Given the description of an element on the screen output the (x, y) to click on. 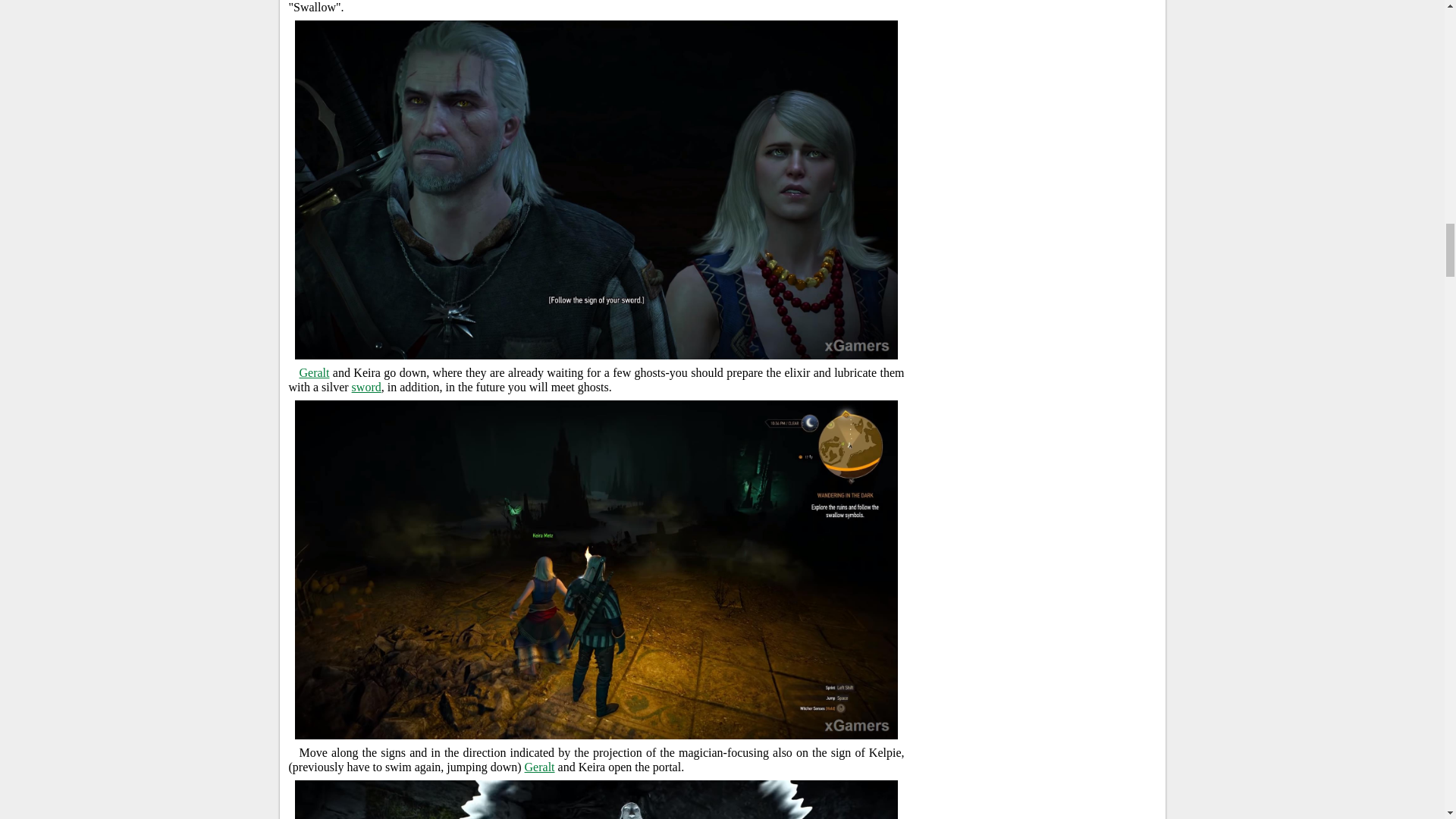
Geralt (313, 372)
Geralt (539, 766)
sword (366, 386)
